Given the description of an element on the screen output the (x, y) to click on. 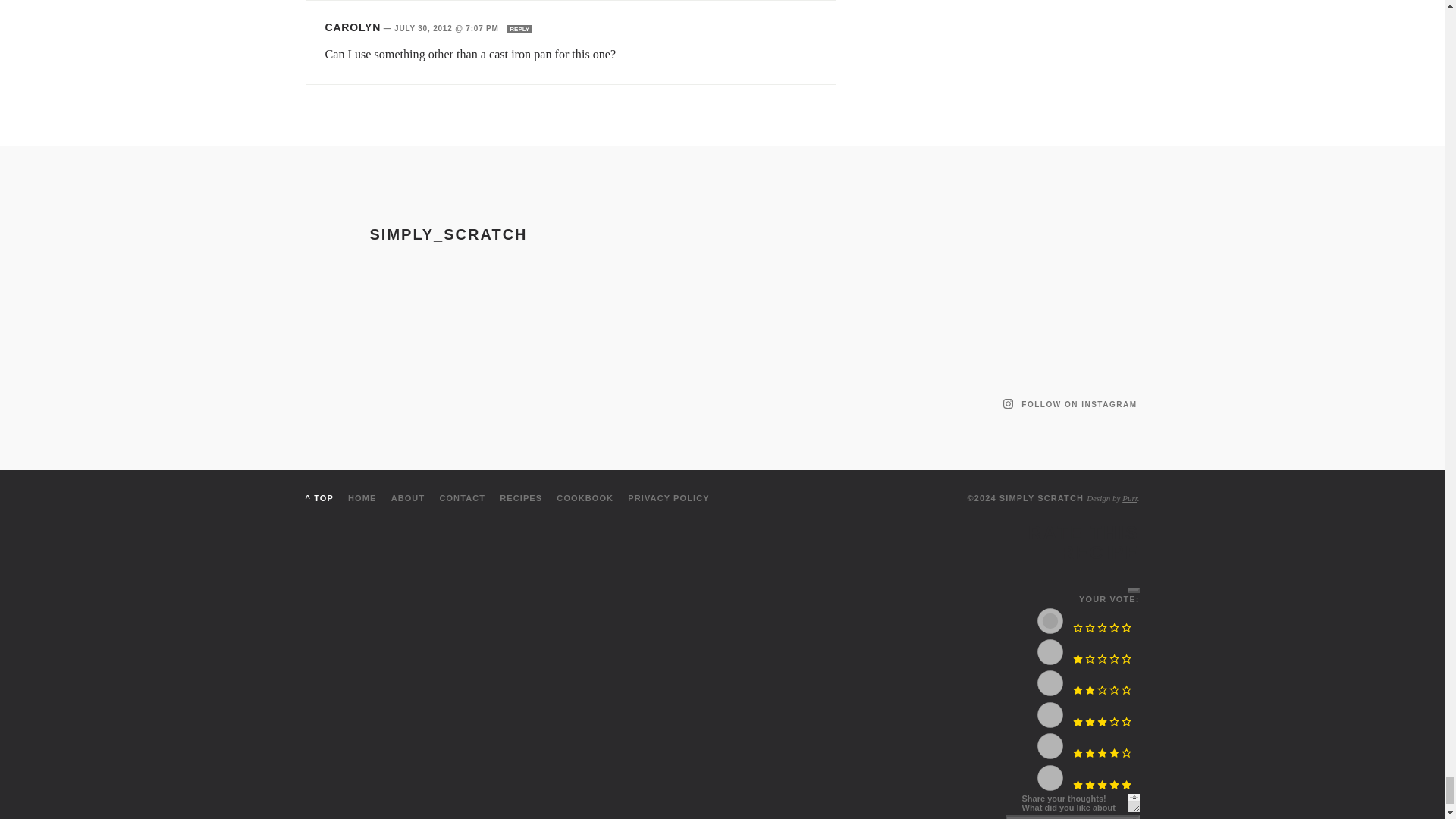
3 (1049, 714)
0 (1049, 620)
1 (1049, 652)
2 (1049, 683)
4 (1049, 746)
5 (1049, 777)
